Given the description of an element on the screen output the (x, y) to click on. 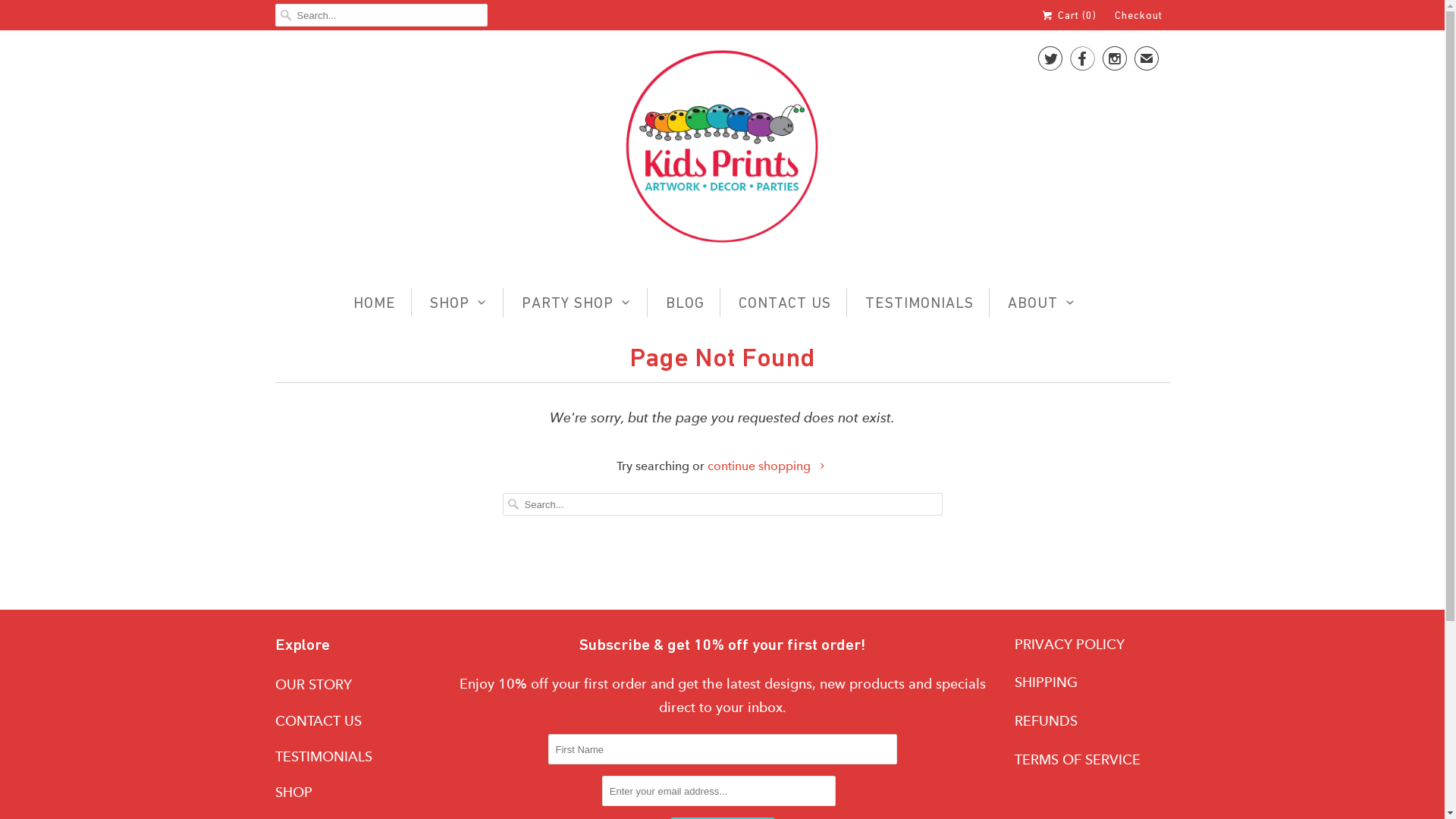
BLOG Element type: text (684, 302)
CONTACT US Element type: text (317, 720)
TESTIMONIALS Element type: text (322, 756)
PRIVACY POLICY Element type: text (1069, 644)
TERMS OF SERVICE Element type: text (1077, 759)
REFUNDS Element type: text (1045, 720)
Checkout Element type: text (1138, 14)
Cart (0) Element type: text (1067, 14)
CONTACT US Element type: text (784, 302)
ABOUT Element type: text (1041, 302)
Kids Prints Online Element type: hover (721, 151)
SHOP Element type: text (458, 302)
continue shopping Element type: text (767, 465)
TESTIMONIALS Element type: text (919, 302)
SHOP Element type: text (292, 792)
PARTY SHOP Element type: text (576, 302)
HOME Element type: text (374, 302)
OUR STORY Element type: text (312, 684)
SHIPPING Element type: text (1045, 682)
